Given the description of an element on the screen output the (x, y) to click on. 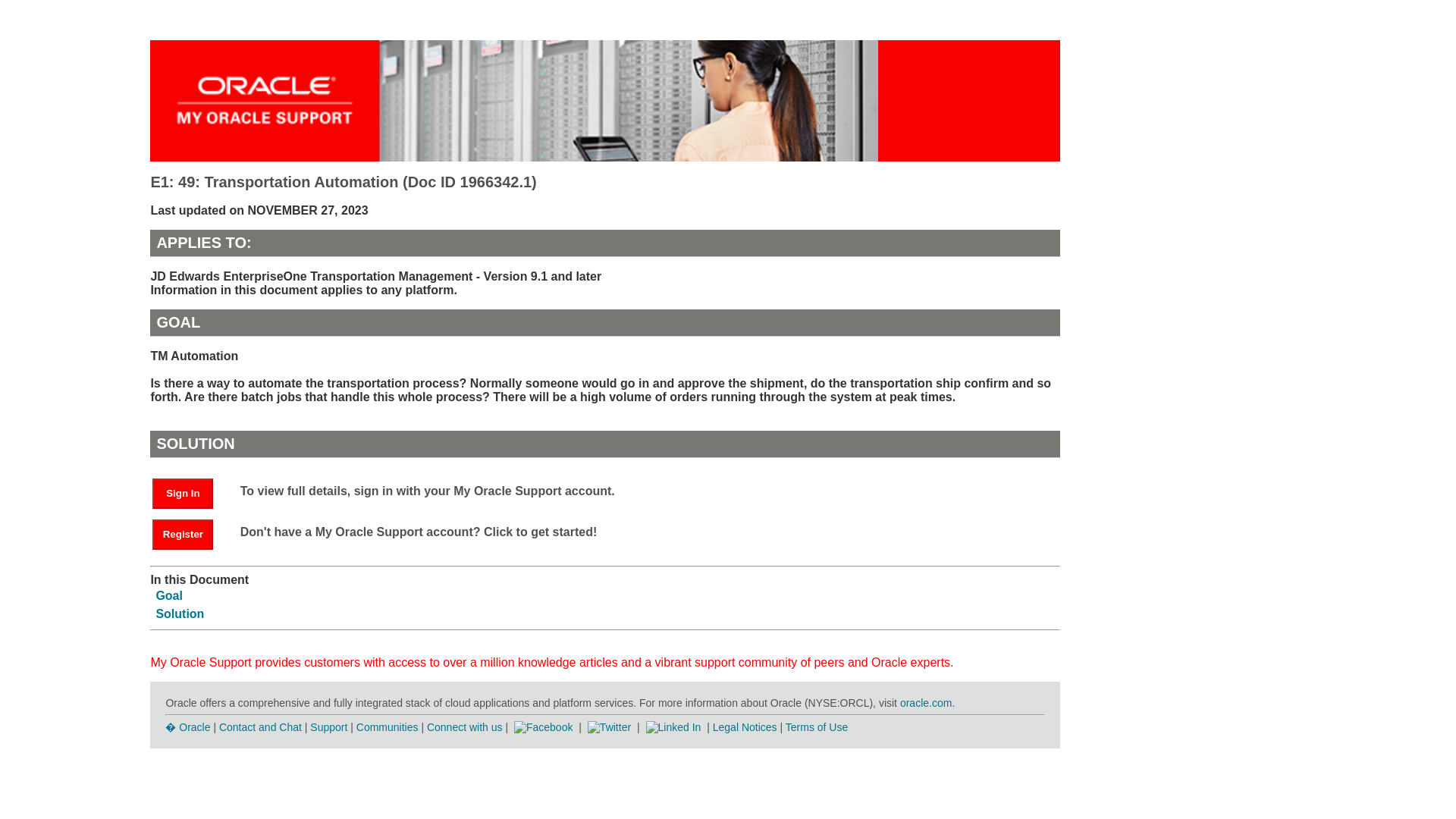
oracle.com (925, 702)
Terms of Use (816, 727)
Sign In (182, 493)
Goal (169, 594)
Solution (179, 613)
Communities (387, 727)
Register (182, 534)
oracle.com (925, 702)
Sign In (190, 492)
Legal Notices (745, 727)
